Given the description of an element on the screen output the (x, y) to click on. 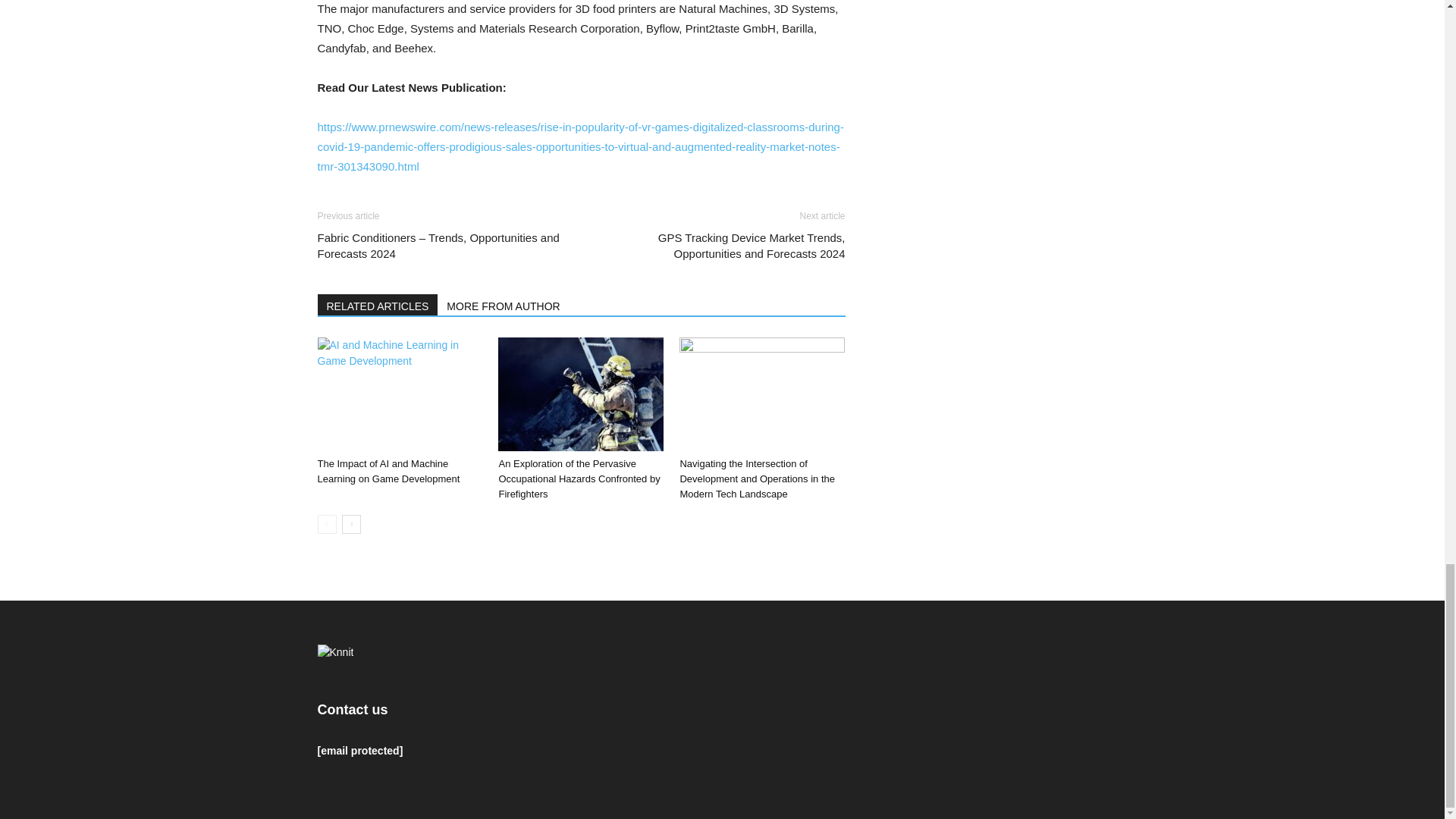
The Impact of AI and Machine Learning on Game Development (399, 394)
The Impact of AI and Machine Learning on Game Development (388, 470)
RELATED ARTICLES (377, 304)
